Given the description of an element on the screen output the (x, y) to click on. 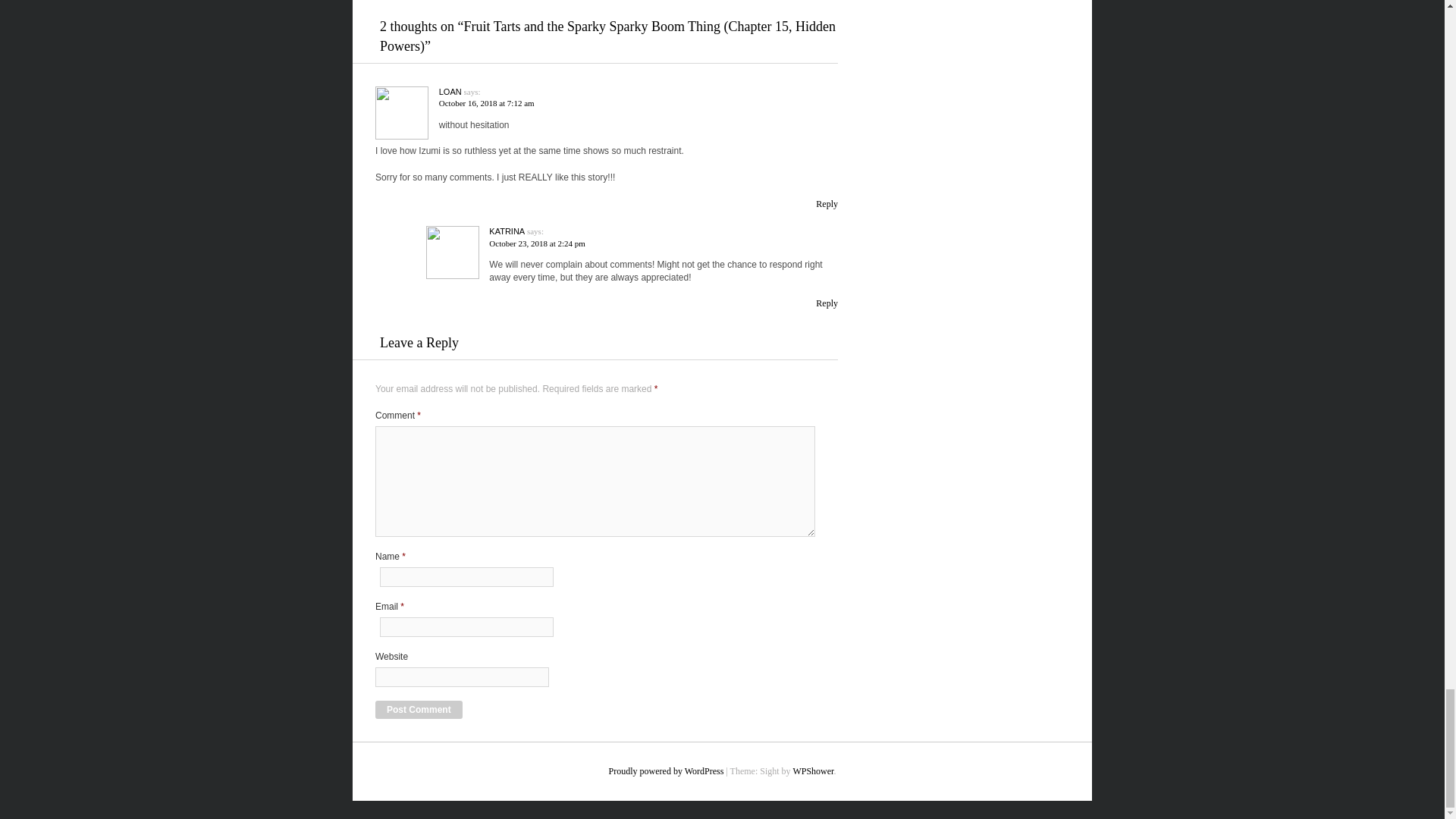
Reply (826, 303)
Reply (826, 204)
Post Comment (419, 710)
October 16, 2018 at 7:12 am (486, 102)
A Semantic Personal Publishing Platform (665, 770)
Post Comment (419, 710)
LOAN (450, 91)
October 23, 2018 at 2:24 pm (537, 242)
